Given the description of an element on the screen output the (x, y) to click on. 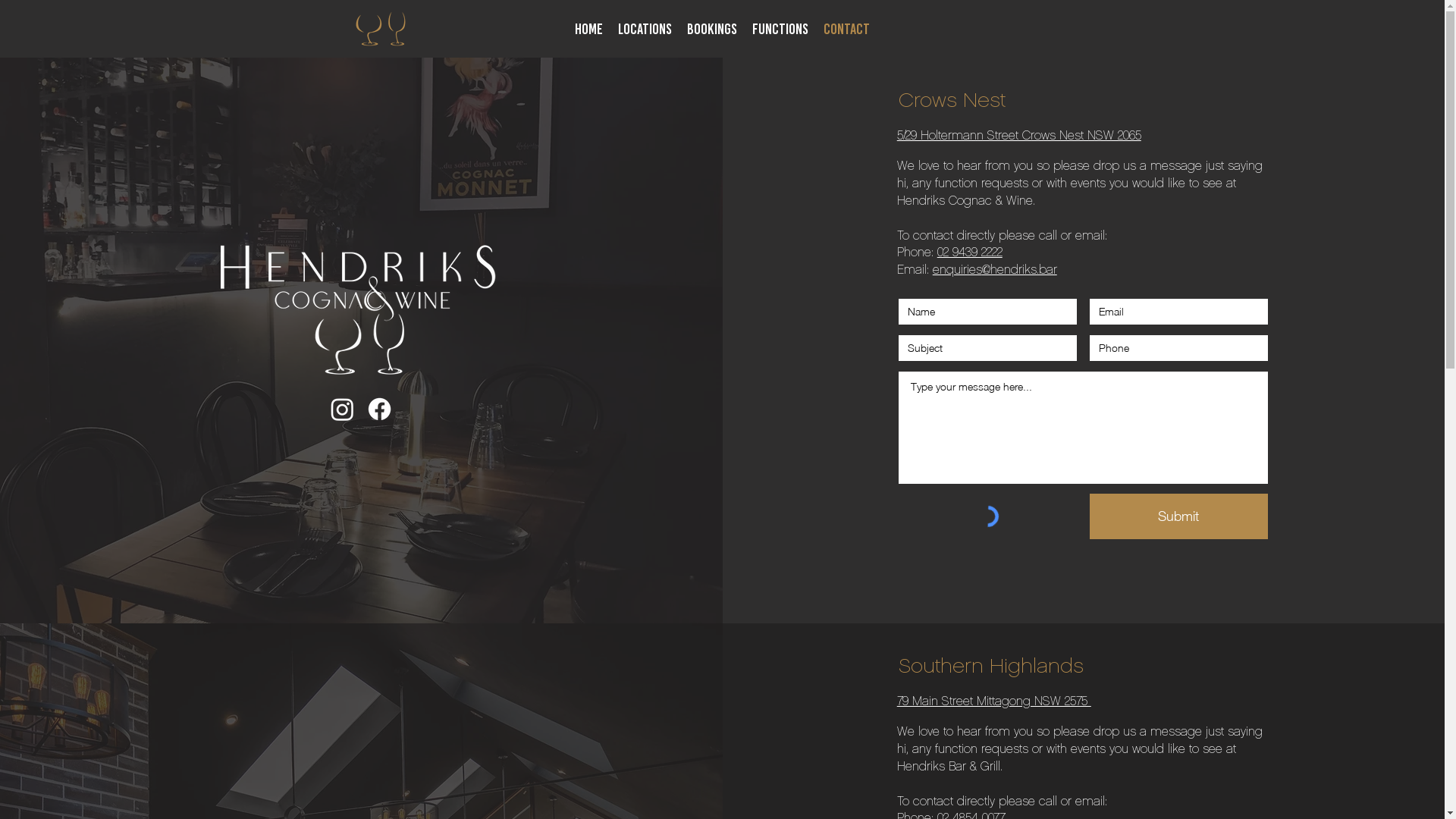
02 9439 2222 Element type: text (969, 252)
5/29 Holtermann Street Crows Nest NSW 2065 Element type: text (1019, 135)
79 Main Street Mittagong NSW 2575  Element type: text (994, 701)
BOOKINGS Element type: text (711, 28)
FUNCTIONS Element type: text (779, 28)
Submit Element type: text (1178, 516)
CONTACT Element type: text (846, 28)
HOME Element type: text (588, 28)
@hendriks.bar Element type: text (1019, 270)
